Given the description of an element on the screen output the (x, y) to click on. 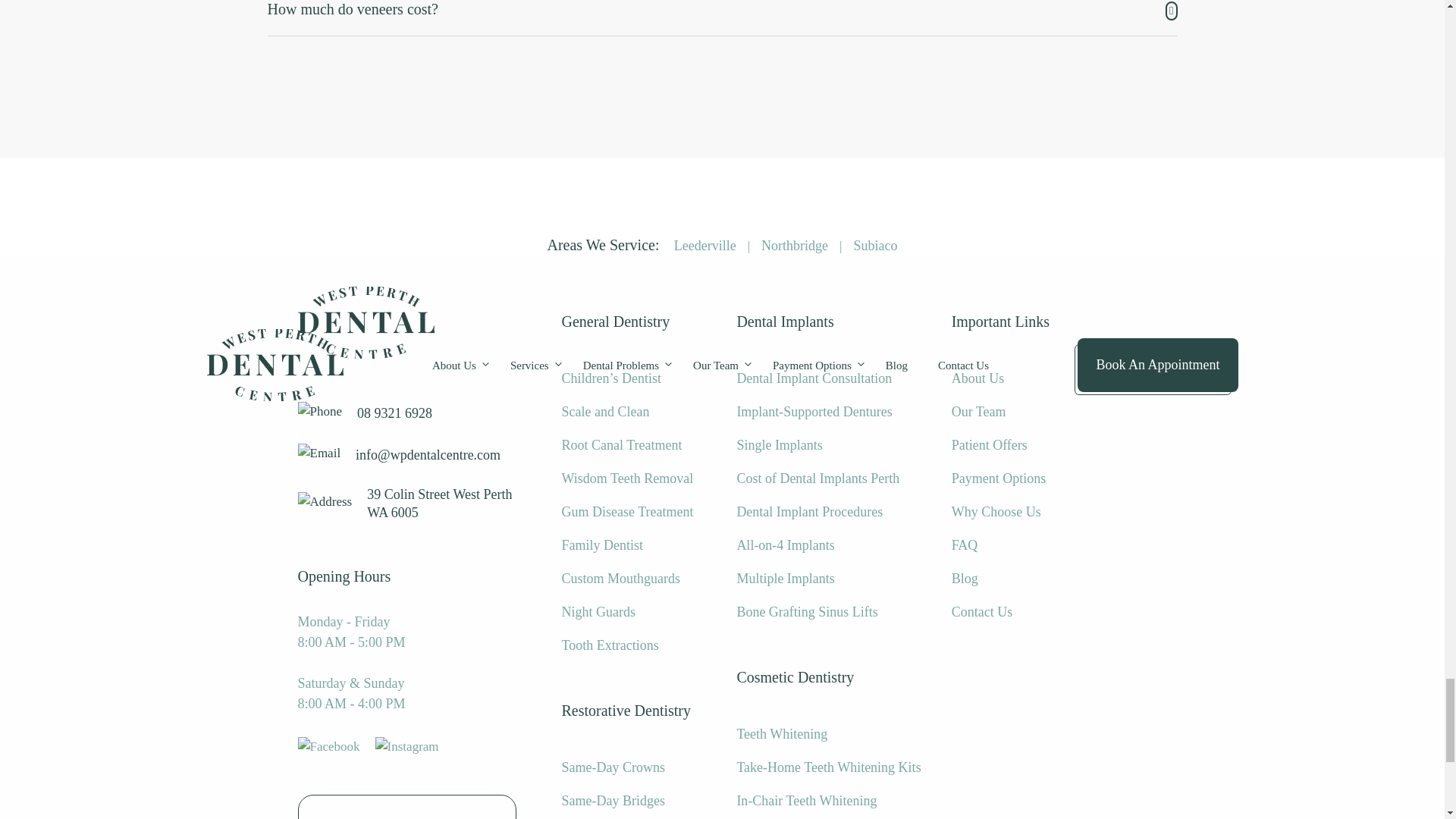
Facebook (328, 746)
Instagram (407, 746)
West Perth Dental (365, 322)
